Given the description of an element on the screen output the (x, y) to click on. 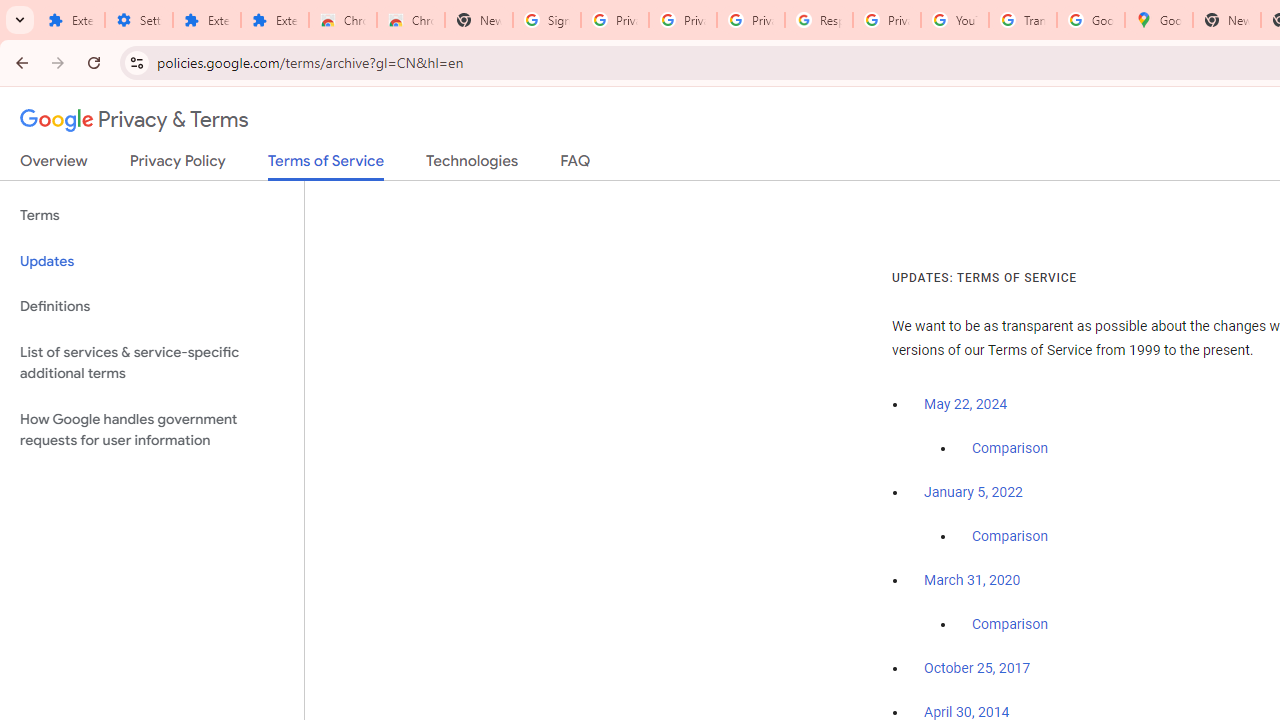
May 22, 2024 (966, 404)
Extensions (274, 20)
New Tab (1226, 20)
March 31, 2020 (972, 580)
Extensions (70, 20)
How Google handles government requests for user information (152, 429)
